Given the description of an element on the screen output the (x, y) to click on. 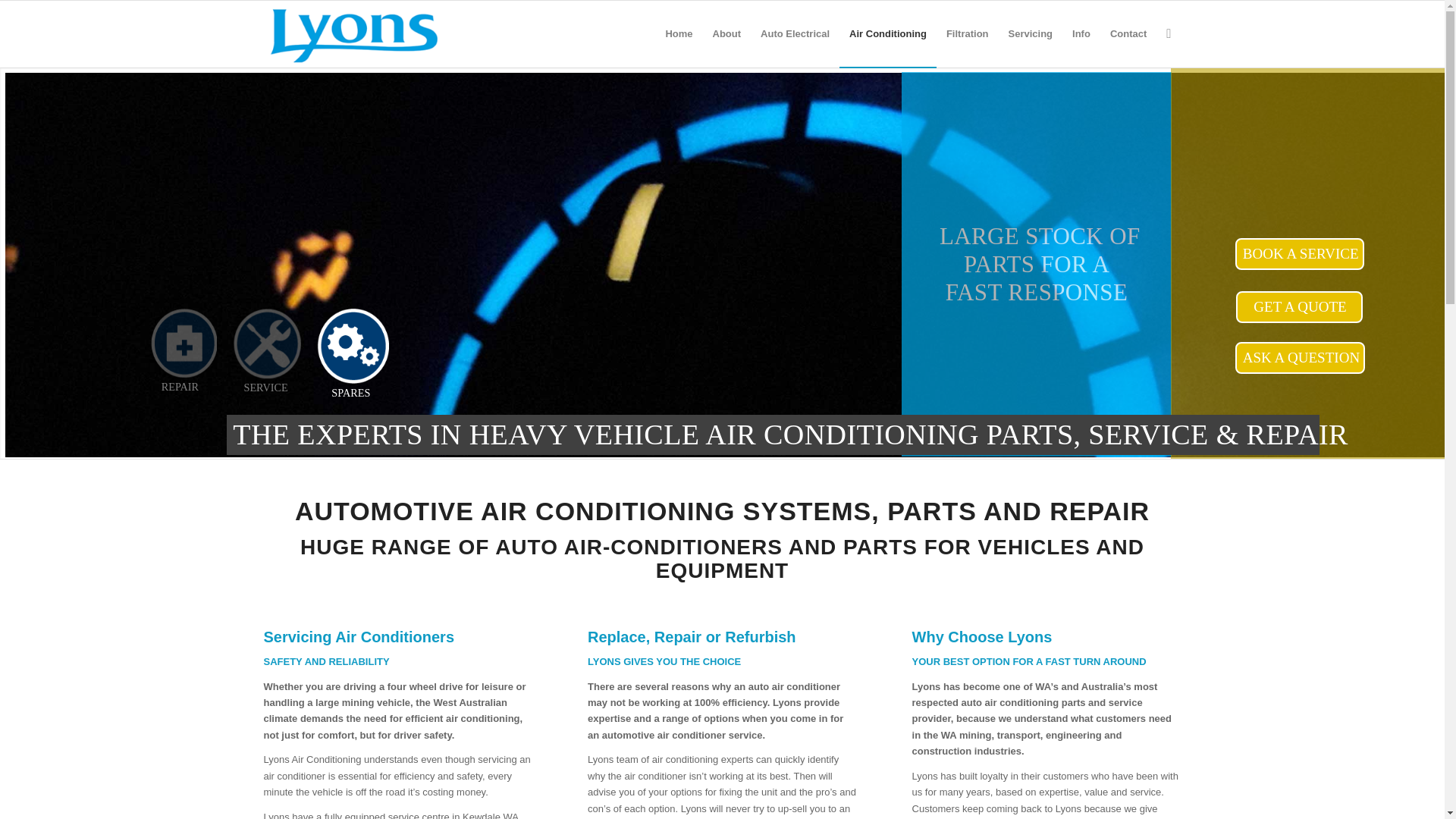
Servicing (1030, 33)
Home (678, 33)
Contact (1128, 33)
Auto Electrical (795, 33)
Info (1081, 33)
About (727, 33)
Air Conditioning (888, 33)
Filtration (967, 33)
